Given the description of an element on the screen output the (x, y) to click on. 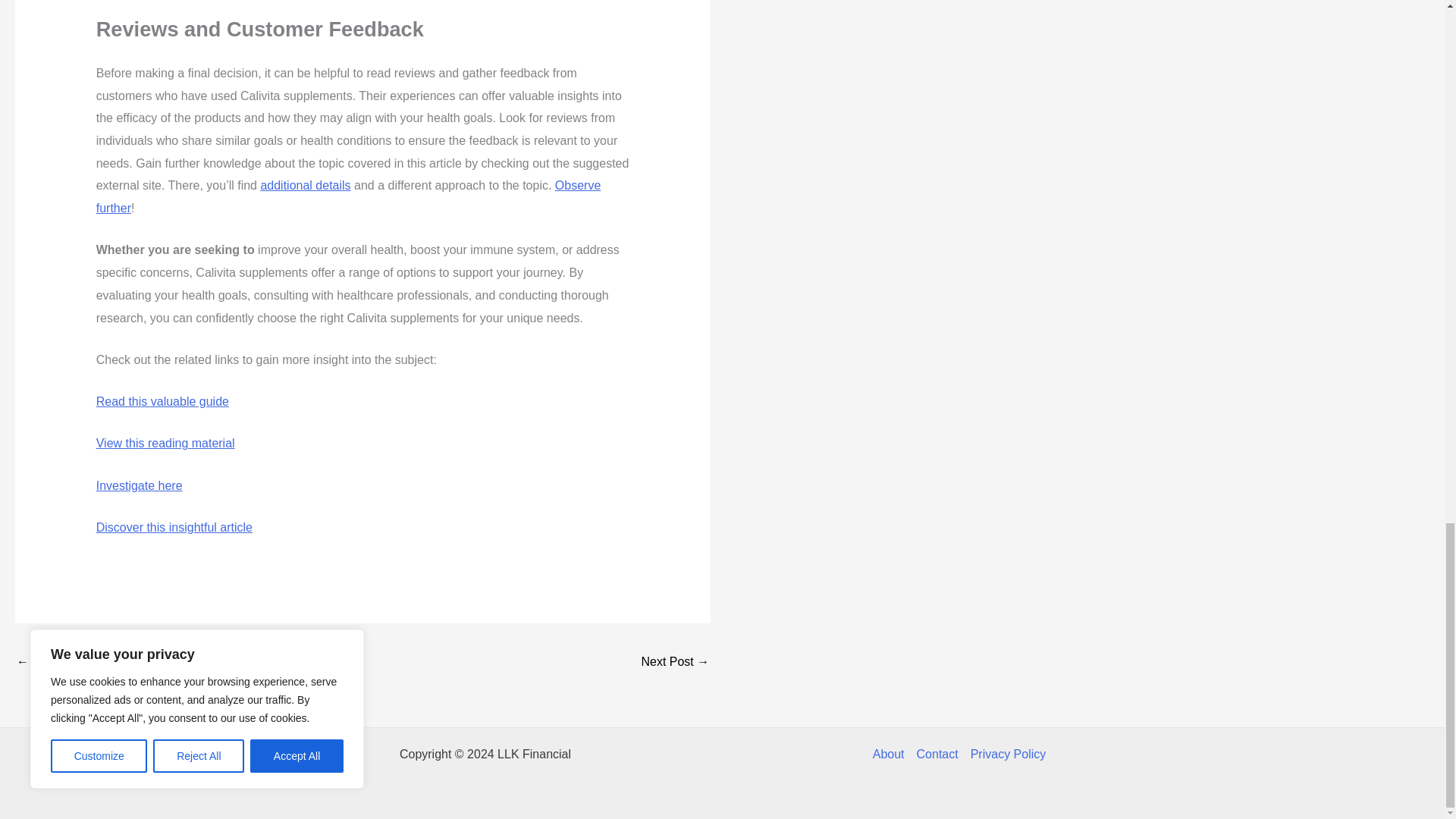
Investigate here (139, 485)
View this reading material (165, 442)
Discover this insightful article (173, 526)
additional details (305, 185)
Comparison between Tube Bumpers and Non-Winch Bumpers (674, 663)
Read this valuable guide (162, 400)
Observe further (348, 196)
